Given the description of an element on the screen output the (x, y) to click on. 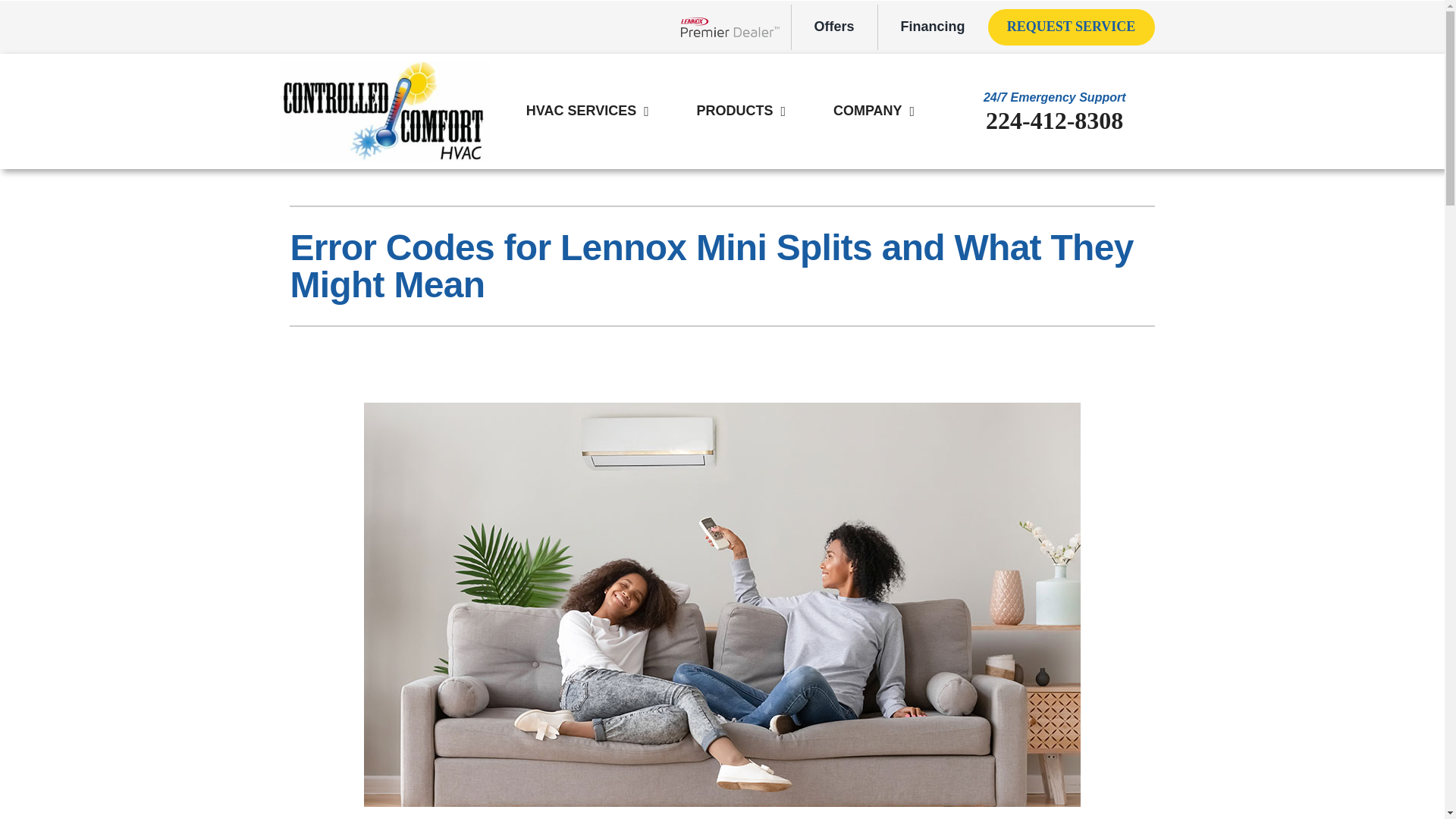
HVAC SERVICES (580, 111)
Offers (833, 26)
Financing (932, 26)
REQUEST SERVICE (1071, 27)
PRODUCTS (734, 111)
224-412-8308 (1053, 120)
COMPANY (867, 111)
